Given the description of an element on the screen output the (x, y) to click on. 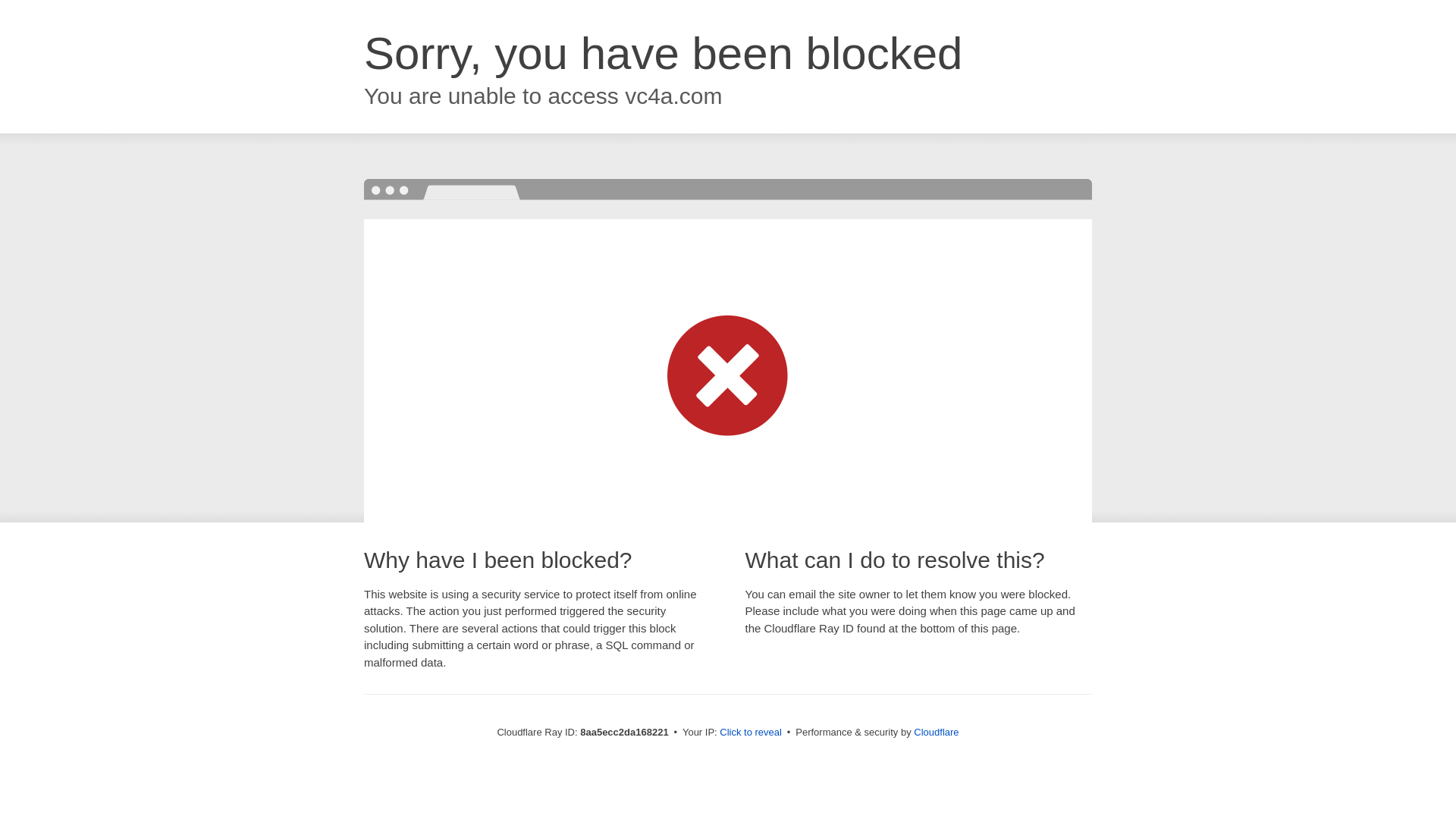
Click to reveal (750, 732)
Cloudflare (936, 731)
